Given the description of an element on the screen output the (x, y) to click on. 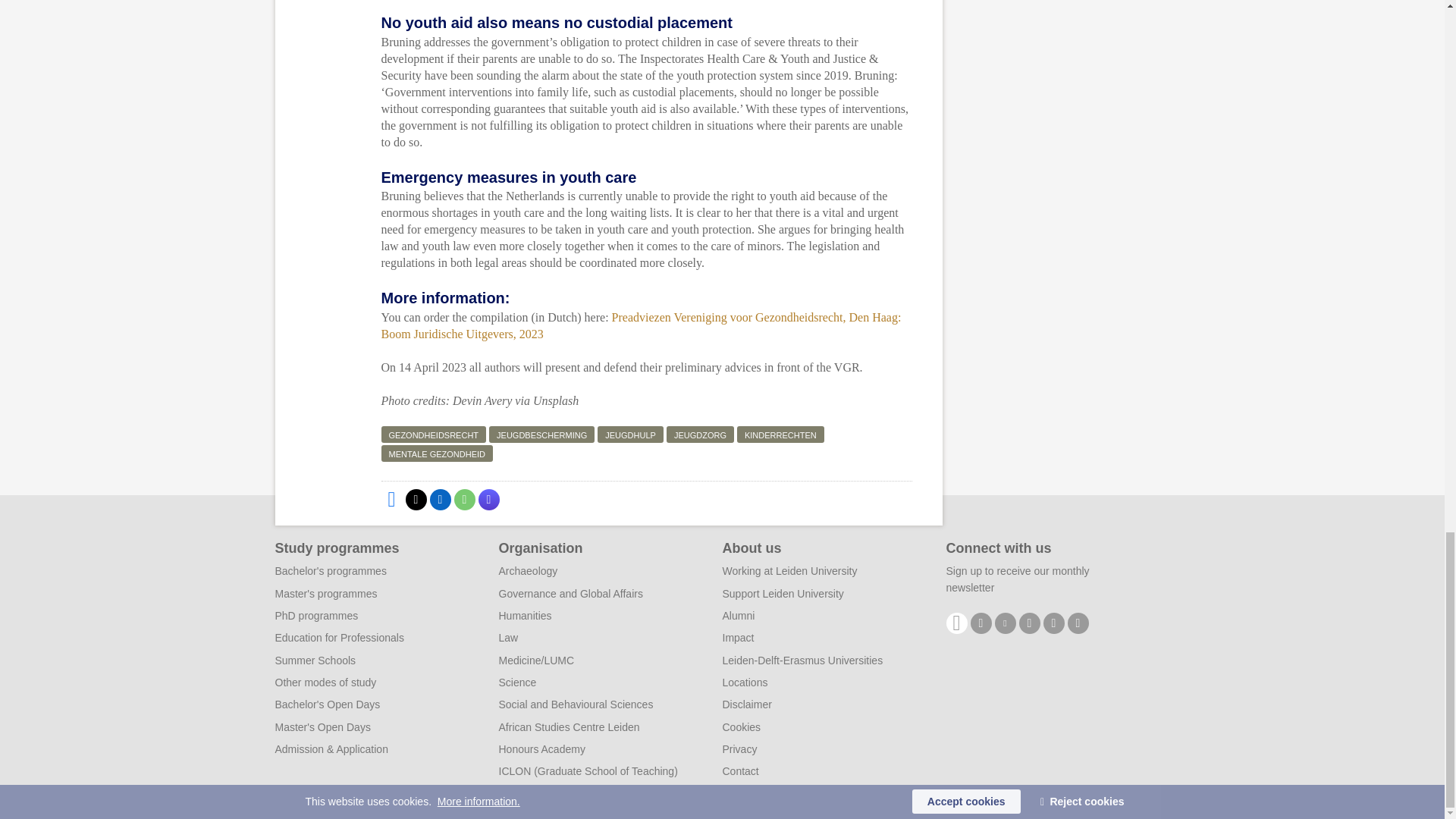
KINDERRECHTEN (780, 434)
Share by WhatsApp (463, 499)
JEUGDHULP (629, 434)
Share on Facebook (390, 499)
GEZONDHEIDSRECHT (433, 434)
JEUGDZORG (699, 434)
Share by Mastodon (488, 499)
MENTALE GEZONDHEID (436, 453)
Share on LinkedIn (439, 499)
